Given the description of an element on the screen output the (x, y) to click on. 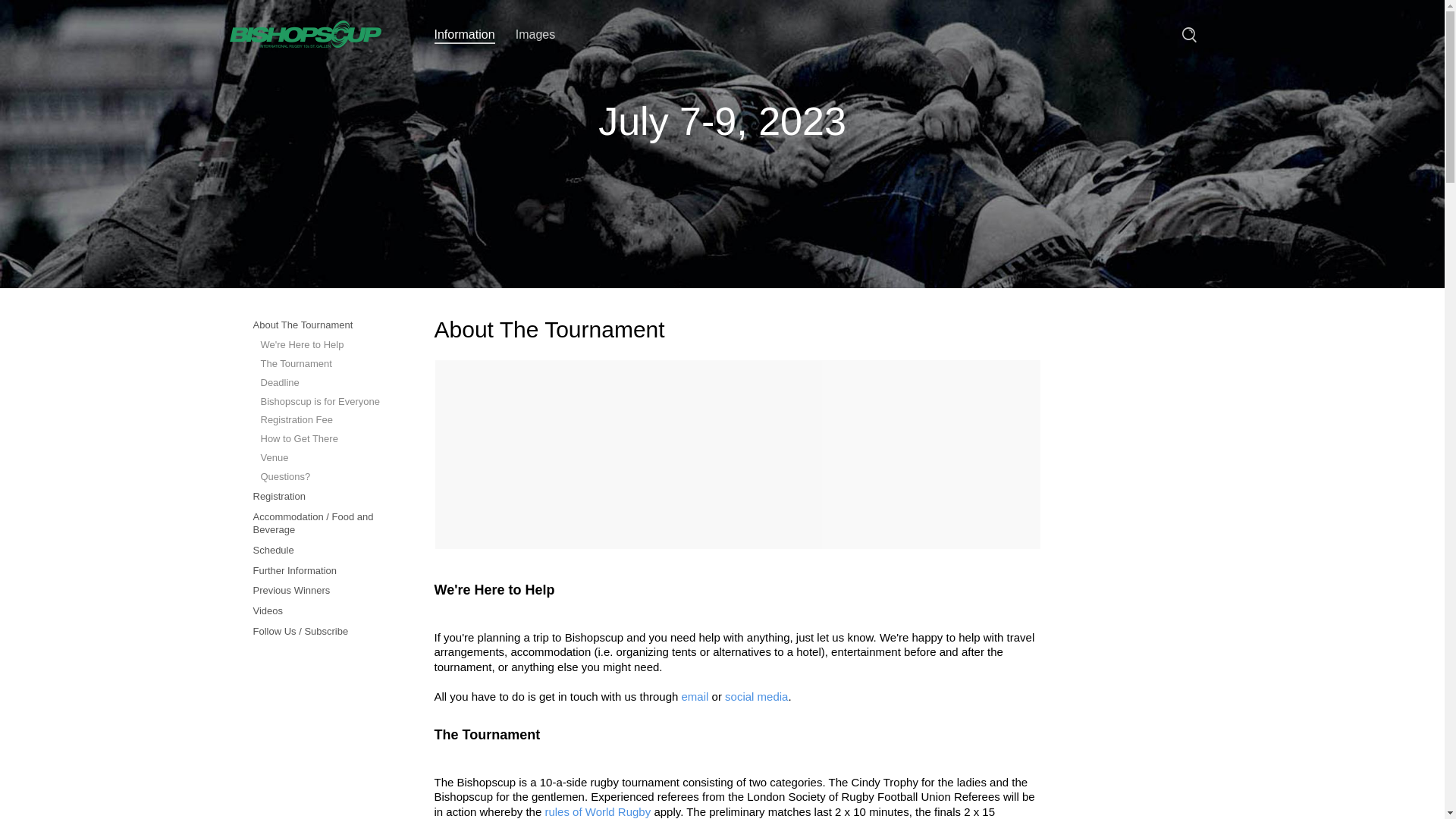
Images Element type: text (535, 35)
The Tournament Element type: text (321, 363)
Videos Element type: text (321, 611)
Accommodation / Food and Beverage Element type: text (321, 523)
Previous Winners Element type: text (321, 590)
How to Get There Element type: text (321, 438)
Schedule Element type: text (321, 550)
Deadline Element type: text (321, 382)
We're Here to Help Element type: text (321, 344)
Registration Fee Element type: text (321, 420)
Search Element type: hover (1188, 34)
Registration Element type: text (321, 496)
Further Information Element type: text (321, 571)
Bishopscup is for Everyone Element type: text (321, 401)
Follow Us / Subscribe Element type: text (321, 631)
Venue Element type: text (321, 457)
Information Element type: text (463, 35)
About The Tournament Element type: text (321, 325)
Questions? Element type: text (321, 476)
